Given the description of an element on the screen output the (x, y) to click on. 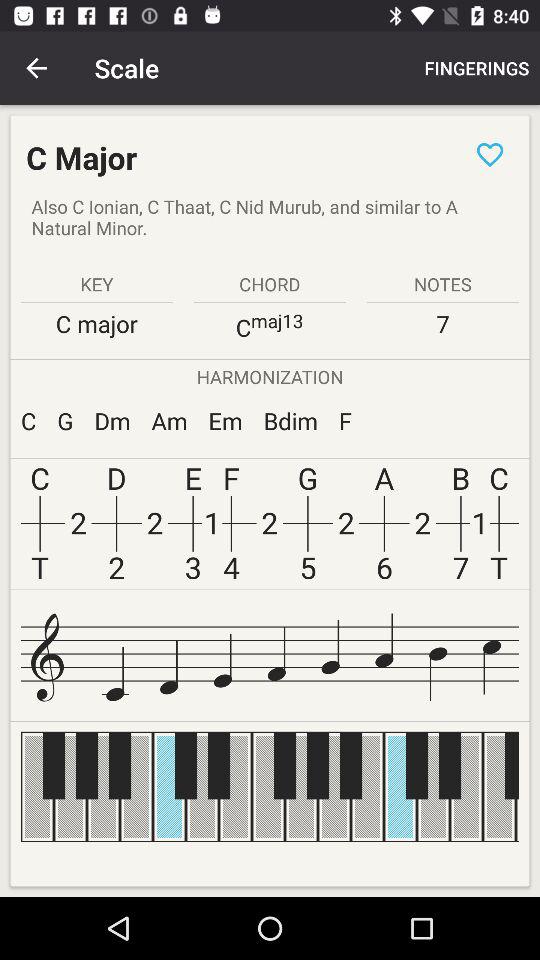
press the item above the also c ionian item (490, 154)
